Given the description of an element on the screen output the (x, y) to click on. 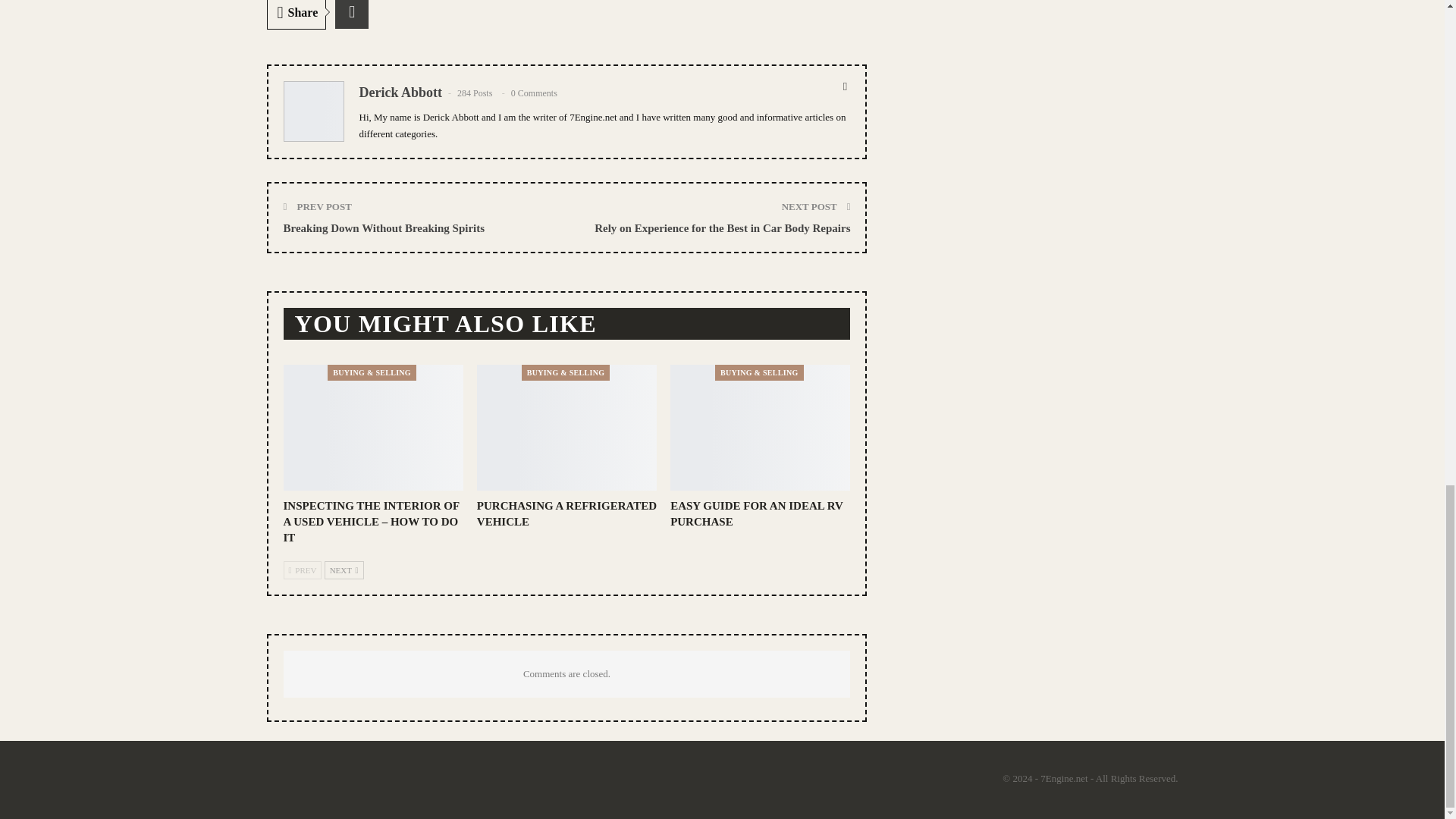
PURCHASING A REFRIGERATED VEHICLE (566, 513)
Easy Guide for an Ideal RV Purchase (756, 513)
Easy Guide for an Ideal RV Purchase (759, 426)
Rely on Experience for the Best in Car Body Repairs (722, 227)
Purchasing A Refrigerated Vehicle (566, 426)
YOU MIGHT ALSO LIKE (444, 327)
Derick Abbott (400, 92)
Next (344, 570)
Purchasing A Refrigerated Vehicle (566, 513)
Previous (302, 570)
Breaking Down Without Breaking Spirits (383, 227)
